Given the description of an element on the screen output the (x, y) to click on. 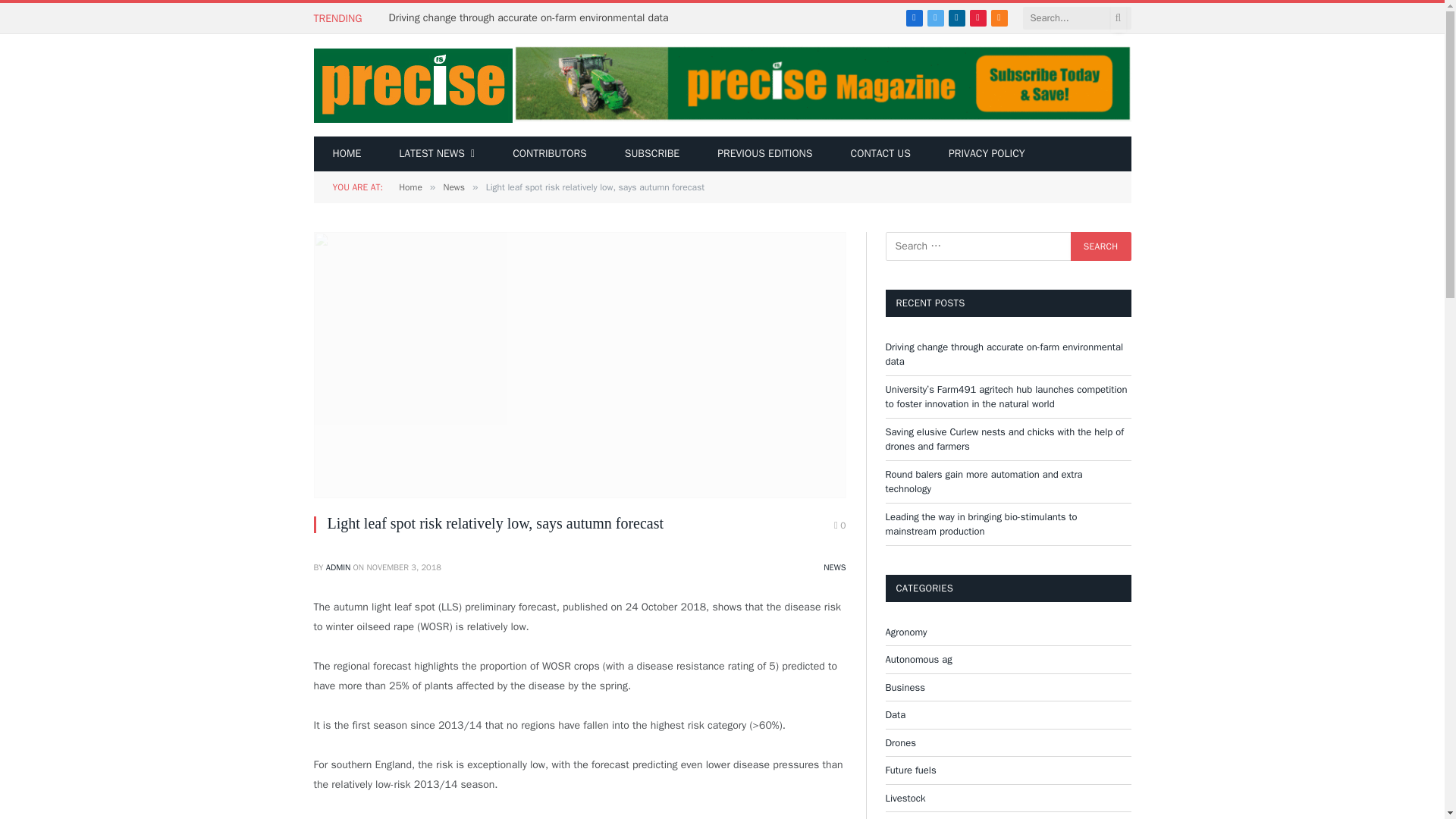
SUBSCRIBE (651, 153)
RSS (999, 17)
2018-11-03 (403, 566)
Twitter (935, 17)
CONTRIBUTORS (549, 153)
Search (1100, 246)
Posts by admin (338, 566)
Search (1100, 246)
PRIVACY POLICY (986, 153)
